Given the description of an element on the screen output the (x, y) to click on. 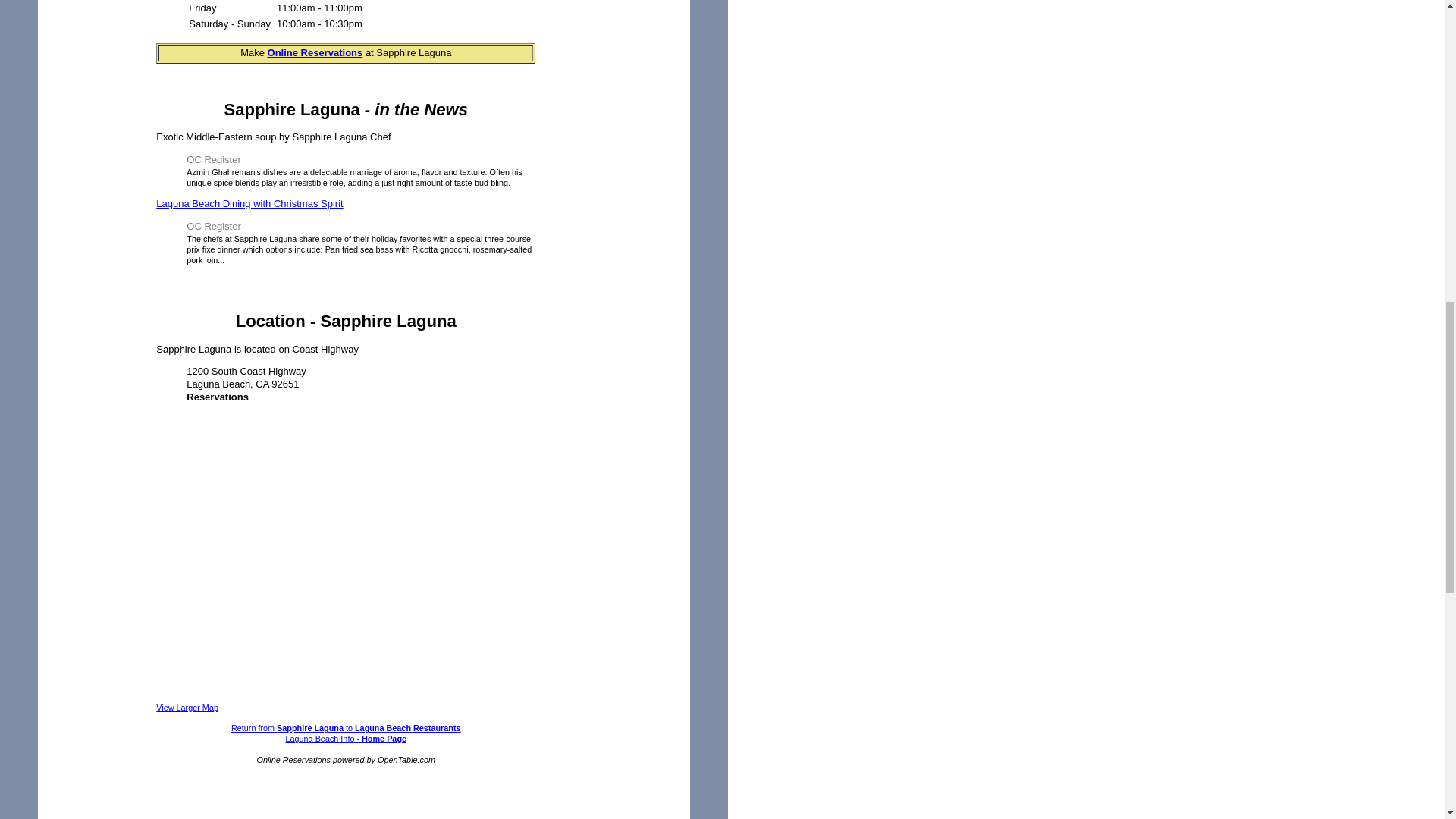
Online Reservations (314, 52)
Return from Sapphire Laguna to Laguna Beach Restaurants (346, 727)
Return from Sapphire Laguna to Laguna Beach Restaurants (346, 727)
View Larger Map (186, 706)
Sapphire Laguna Beach Restaurants (314, 52)
Laguna Beach Dining with Christmas Spirit (248, 203)
Laguna Beach Restaurant with Christmas Spirit (248, 203)
Laguna Beach Info - Home Page (345, 737)
Laguna Beach Info - Home Page (345, 737)
